Given the description of an element on the screen output the (x, y) to click on. 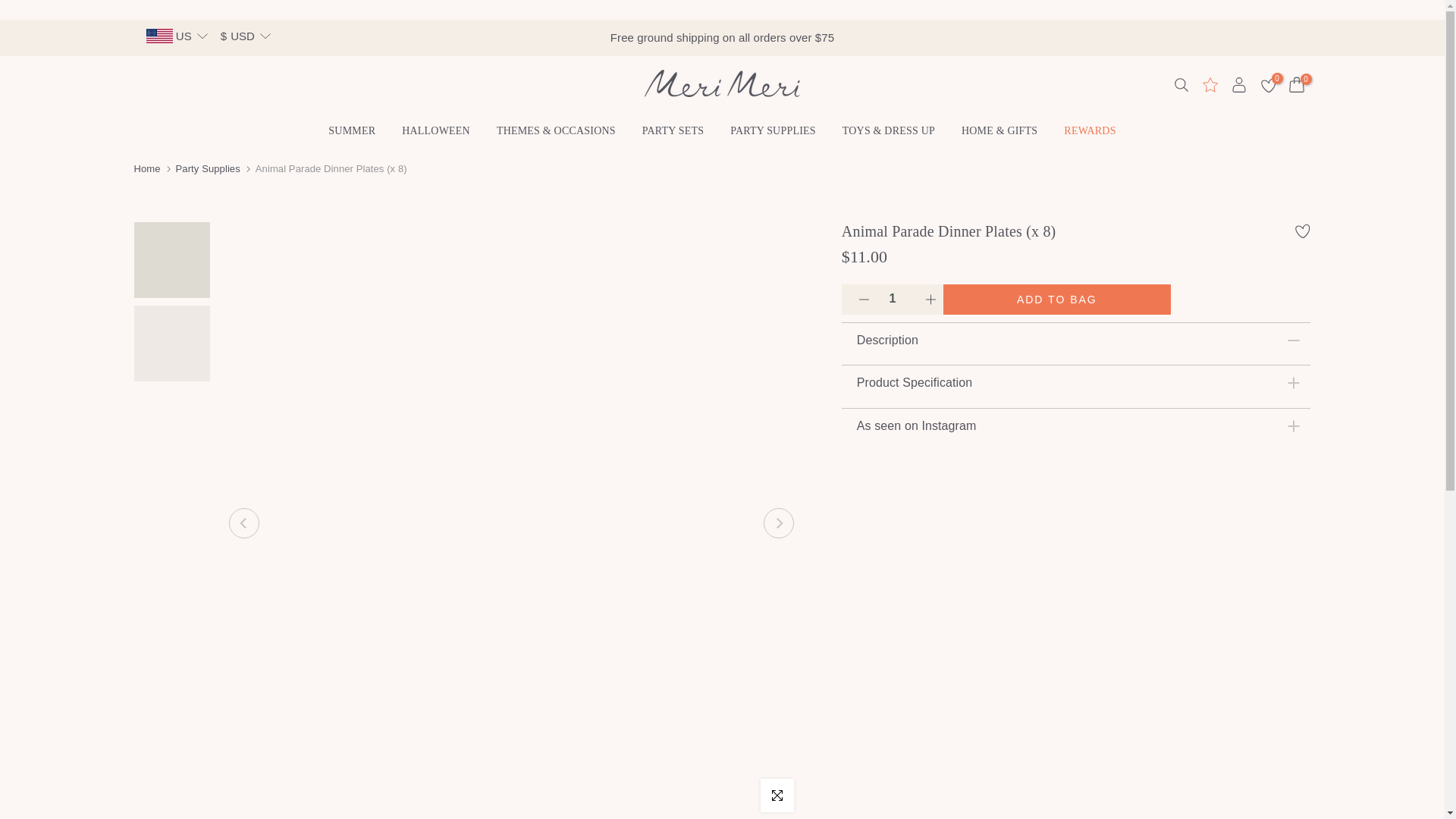
Party Perks landing page for rewards (1209, 84)
SUMMER (351, 131)
Product Specification (1076, 382)
ADD TO BAG (1056, 299)
1 (892, 298)
PARTY SUPPLIES (773, 131)
HALLOWEEN (435, 131)
Skip to Content (14, 7)
As seen on Instagram (1076, 425)
PARTY SETS (672, 131)
